Given the description of an element on the screen output the (x, y) to click on. 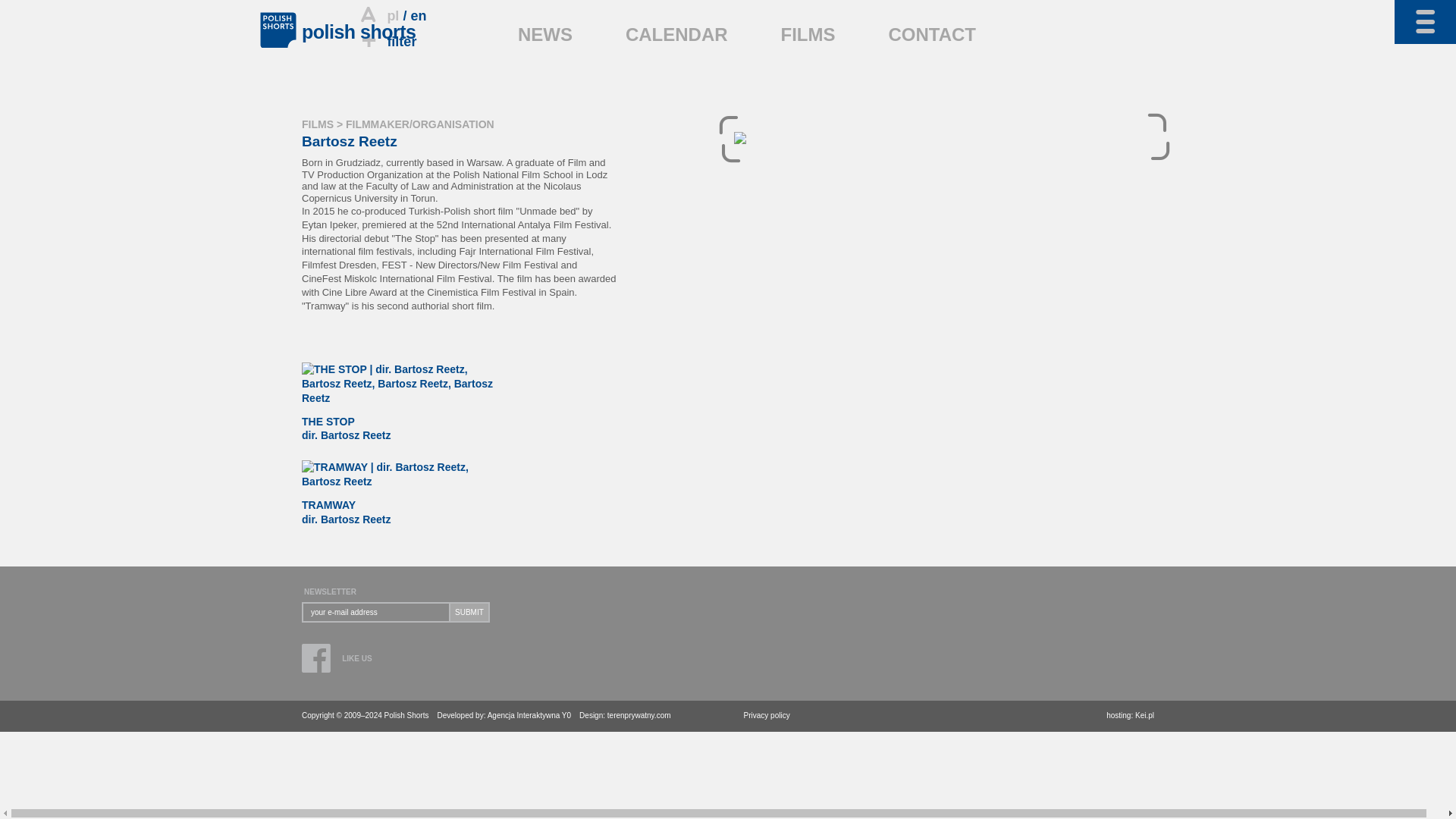
FILMS (317, 123)
SUBMIT (468, 611)
filter (386, 41)
CALENDAR (677, 34)
CONTACT (931, 34)
english version (418, 15)
en (418, 15)
polish shorts (357, 31)
NEWS (545, 34)
Agencja Interaktywna Y0 (528, 715)
